Given the description of an element on the screen output the (x, y) to click on. 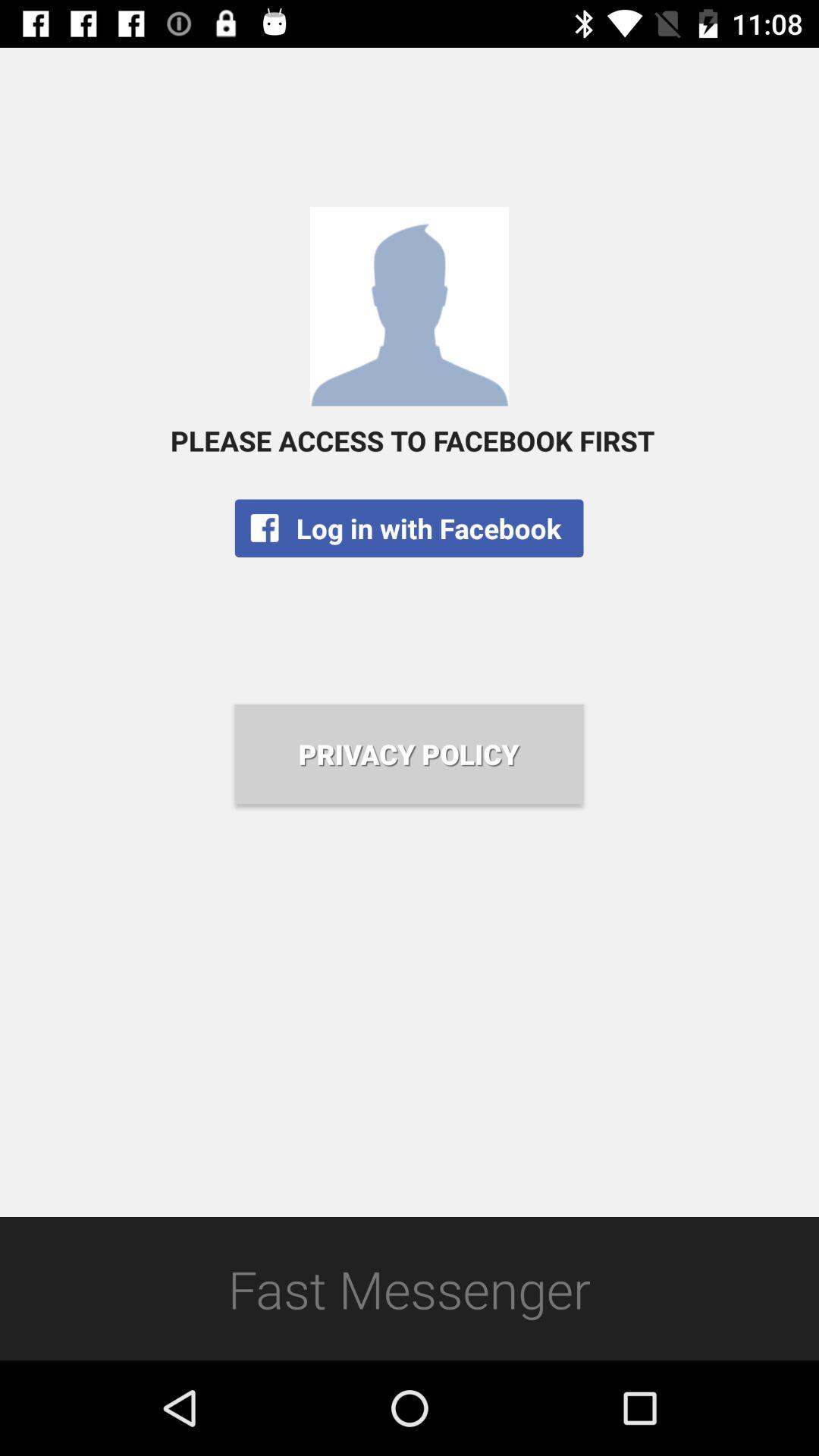
choose item below log in with icon (408, 754)
